Given the description of an element on the screen output the (x, y) to click on. 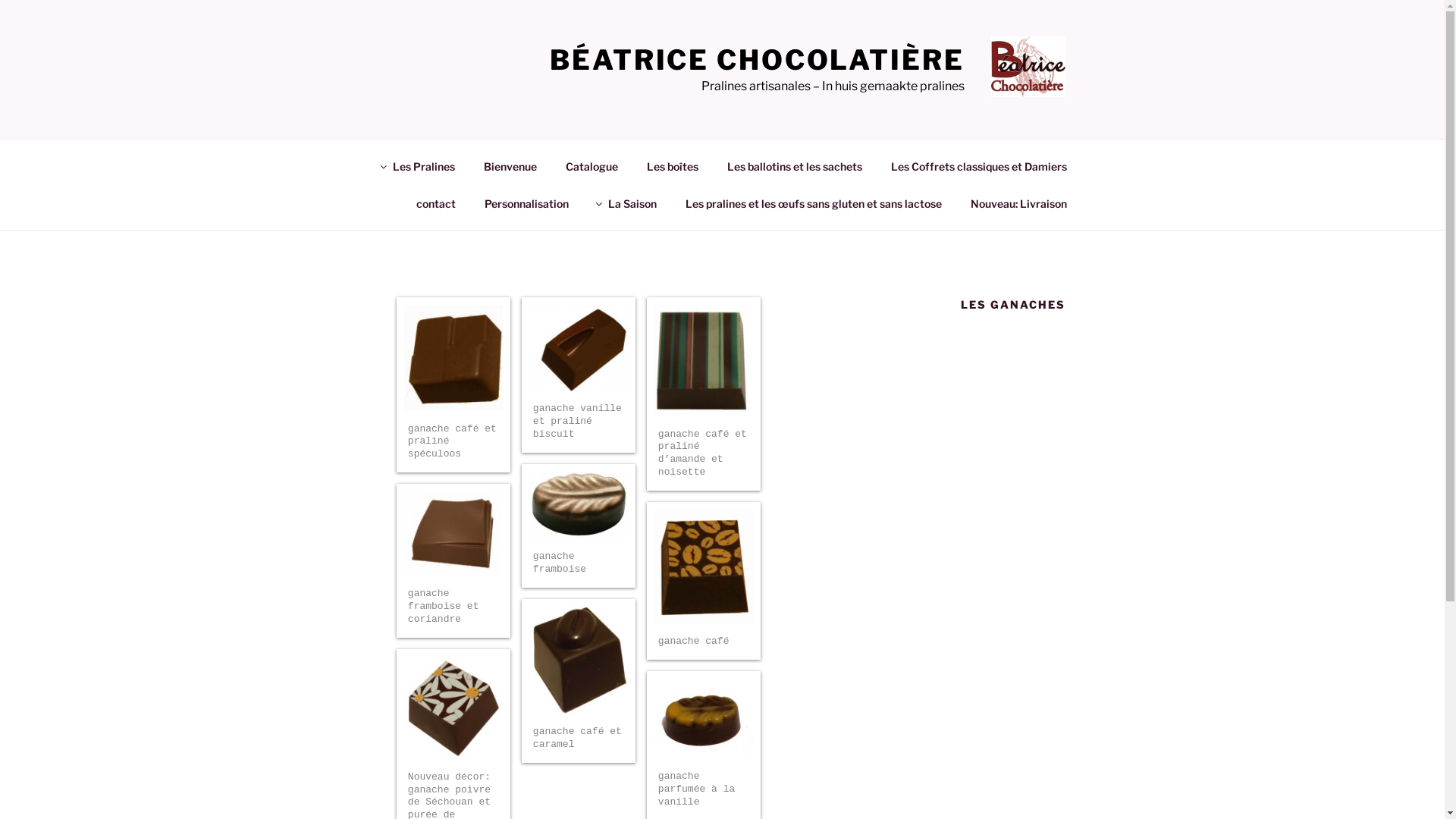
La Saison Element type: text (626, 203)
Nouveau: Livraison Element type: text (1018, 203)
Aller au contenu principal Element type: text (1443, 0)
contact Element type: text (436, 203)
Les ballotins et les sachets Element type: text (794, 165)
Personnalisation Element type: text (526, 203)
Catalogue Element type: text (591, 165)
Les Coffrets classiques et Damiers Element type: text (979, 165)
Les Pralines Element type: text (417, 165)
Bienvenue Element type: text (509, 165)
